Given the description of an element on the screen output the (x, y) to click on. 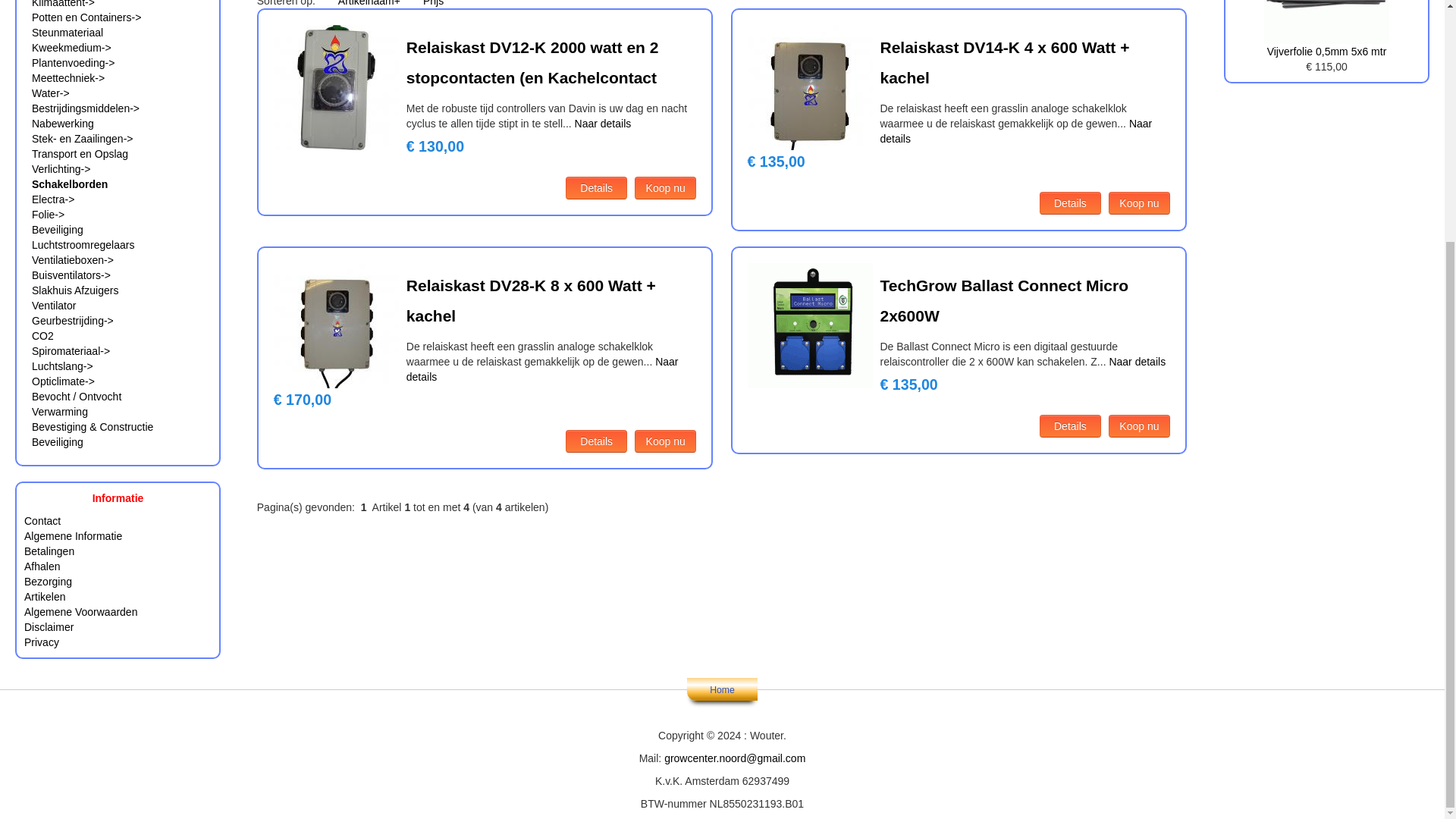
CO2 (42, 336)
Steunmateriaal (67, 32)
Schakelborden (69, 184)
Beveiliging (57, 229)
Sorteer artikelen Oplopend volgens Prijs (433, 3)
Slakhuis Afzuigers (74, 290)
Sorteer artikelen Aflopend volgens Artikelnaam (368, 3)
Verwarming (59, 411)
Ventilator (53, 305)
Transport en Opslag (80, 153)
